Given the description of an element on the screen output the (x, y) to click on. 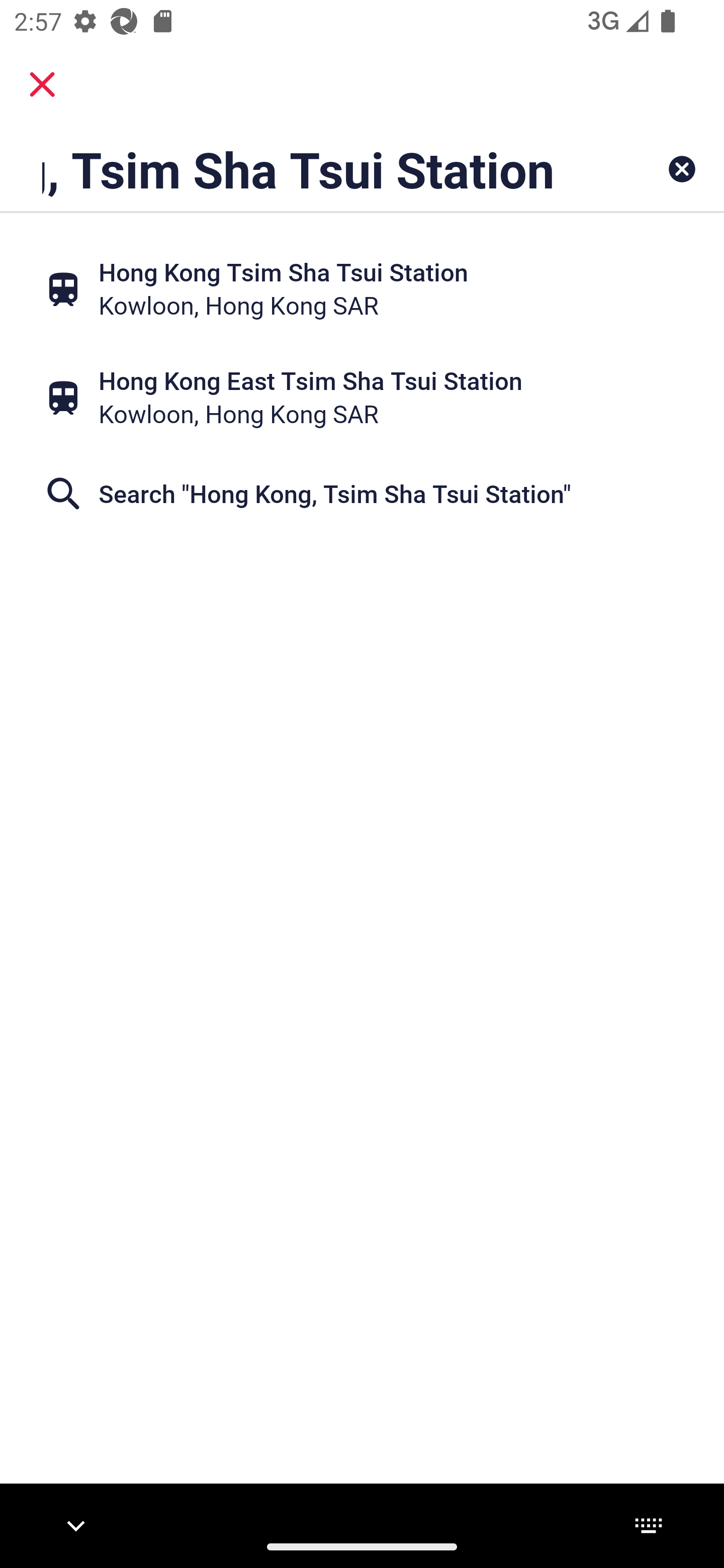
close. (42, 84)
Clear (681, 169)
Hong Kong, Tsim Sha Tsui Station (298, 169)
Search "Hong Kong, Tsim Sha Tsui Station" (362, 493)
